Given the description of an element on the screen output the (x, y) to click on. 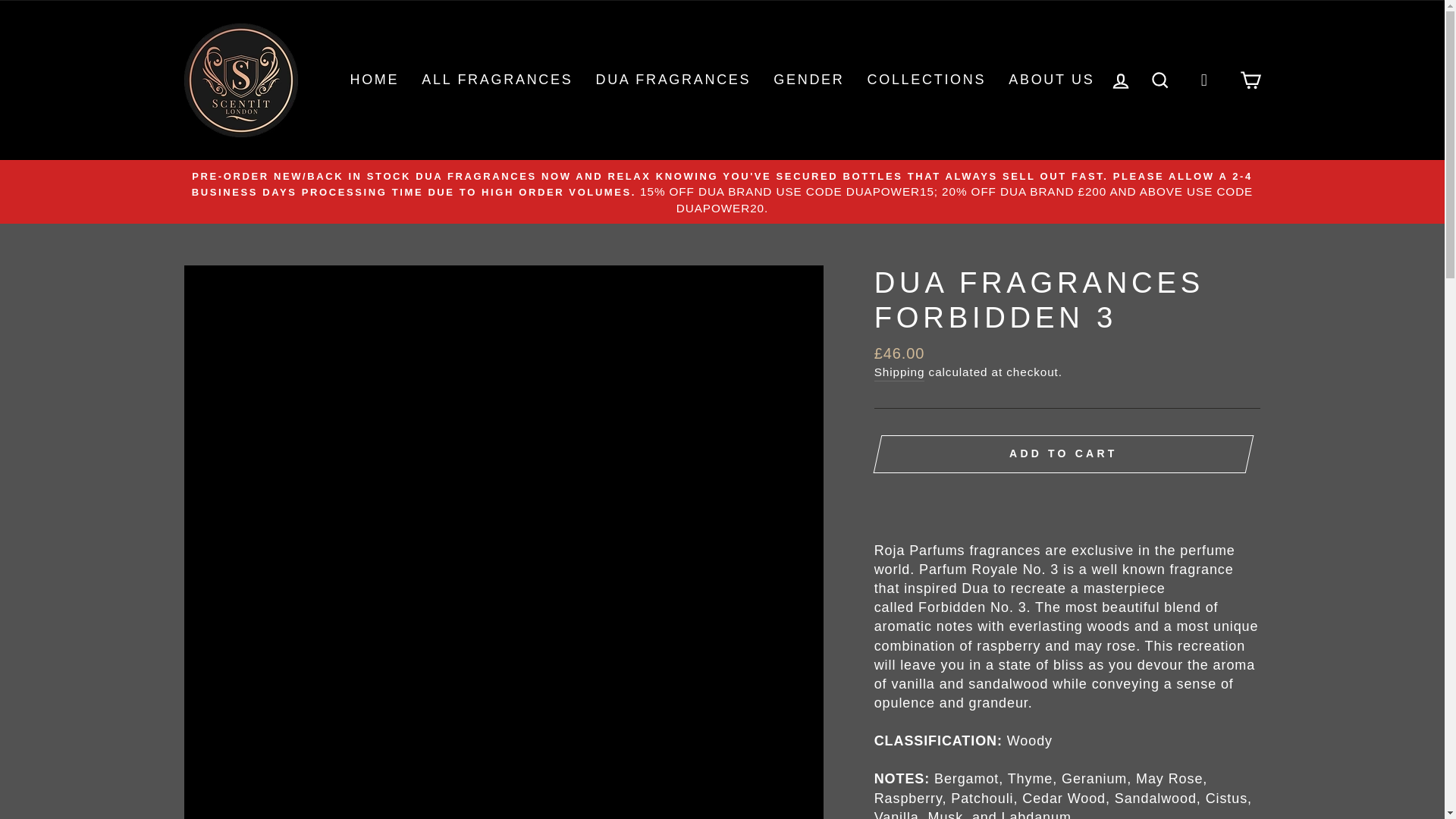
GENDER (808, 80)
ABOUT US (1051, 80)
DUA FRAGRANCES (672, 80)
ALL FRAGRANCES (496, 80)
COLLECTIONS (926, 80)
HOME (373, 80)
